Given the description of an element on the screen output the (x, y) to click on. 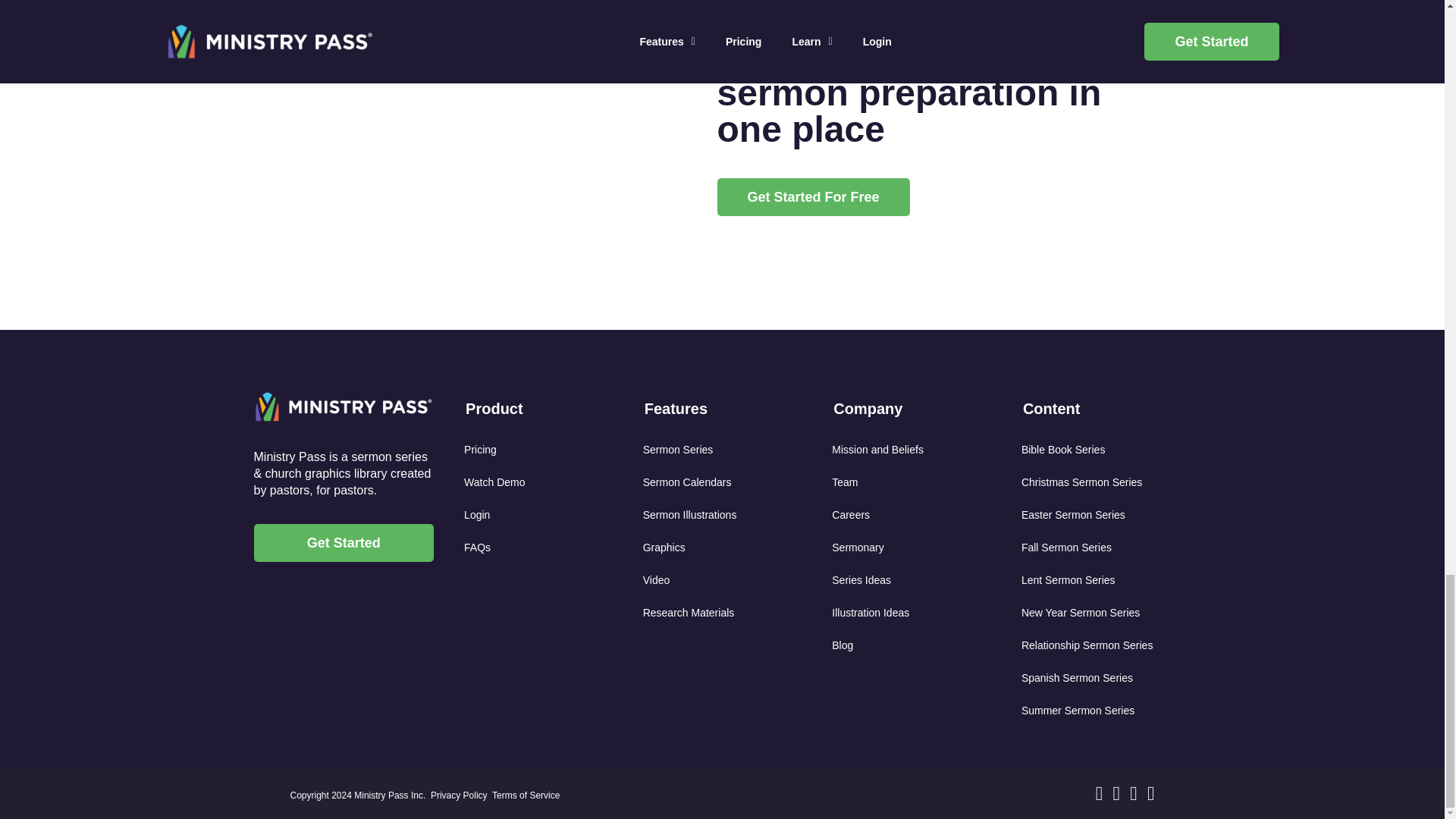
Video (728, 581)
Get Started For Free (813, 197)
Graphics (728, 548)
Sermon Calendars (728, 482)
Watch Demo (549, 482)
Sermon Illustrations (728, 515)
Get Started (343, 542)
Pricing (549, 450)
Sermon Series (728, 450)
Login (549, 515)
FAQs (549, 548)
